Given the description of an element on the screen output the (x, y) to click on. 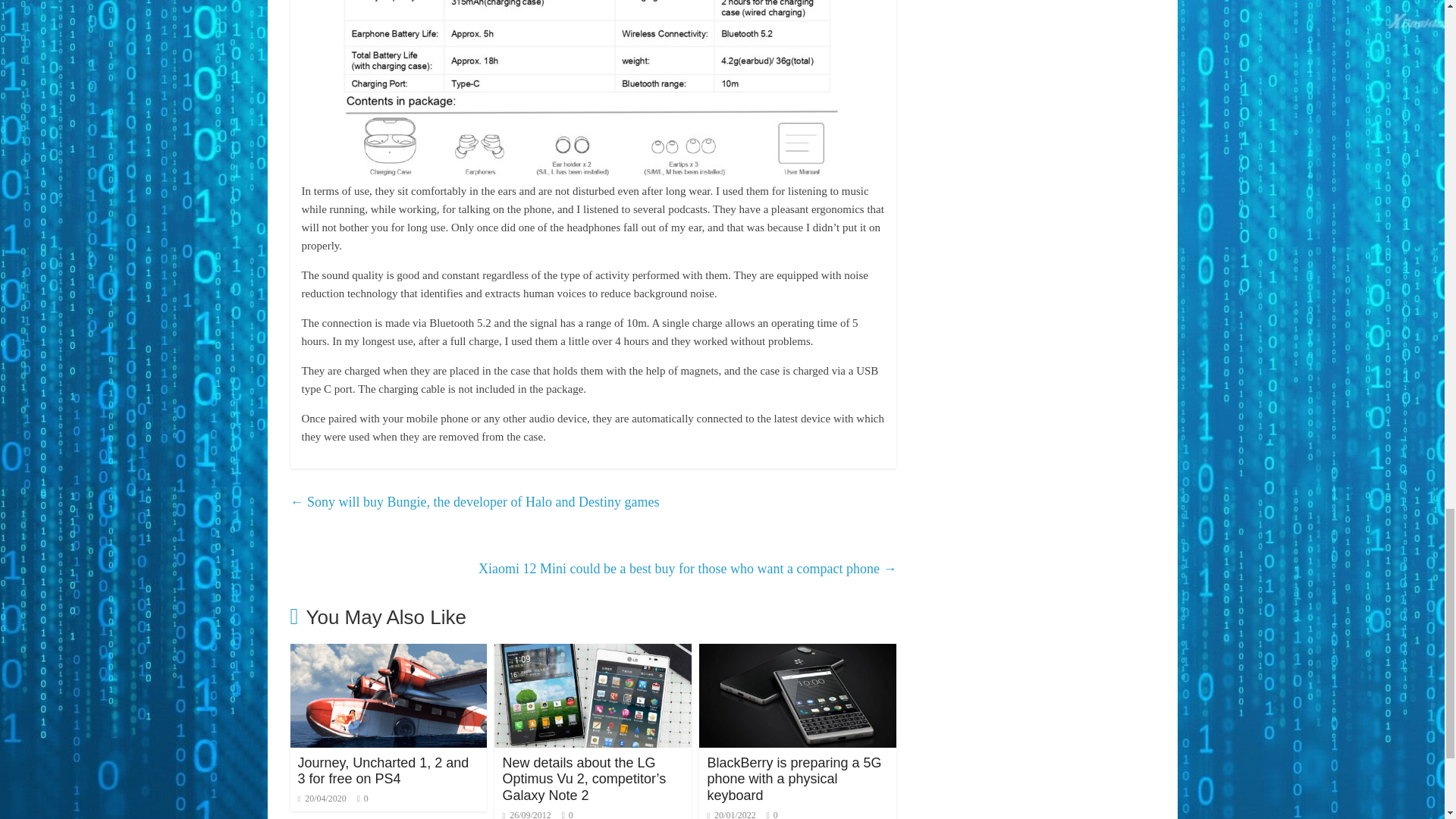
Journey, Uncharted 1, 2 and 3 for free on PS4 (382, 771)
07:56 (321, 798)
Journey, Uncharted 1, 2 and 3 for free on PS4 (387, 653)
BlackBerry is preparing a 5G phone with a physical keyboard (793, 779)
Journey, Uncharted 1, 2 and 3 for free on PS4 (382, 771)
